Given the description of an element on the screen output the (x, y) to click on. 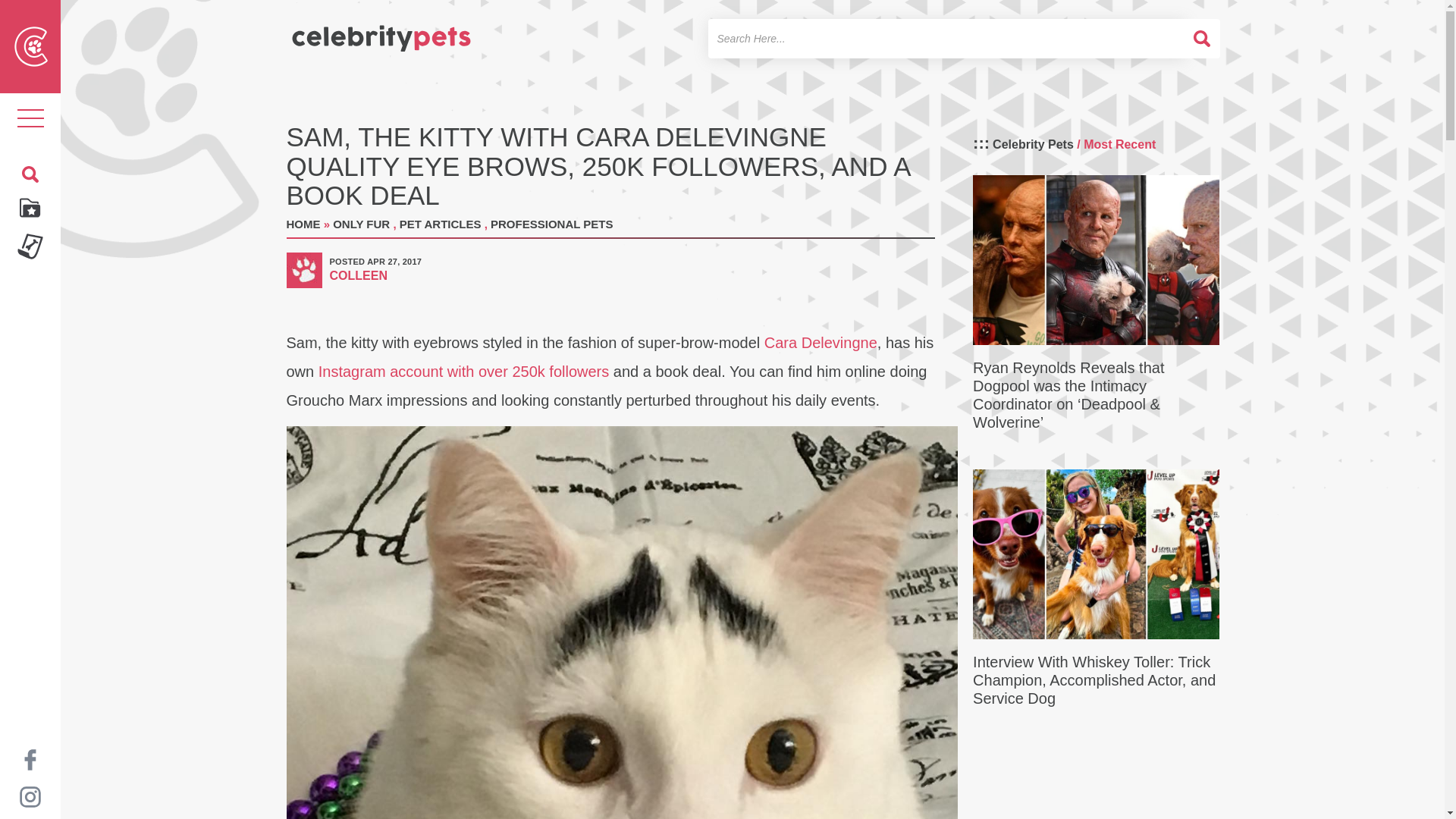
Celebrity Pets on Instagram (29, 795)
Celebrty Pets (381, 32)
Search for (946, 38)
Celebrty Pets Icon (31, 45)
Celebrity Pets on Facebook (29, 758)
Toggle navigation (29, 117)
